Given the description of an element on the screen output the (x, y) to click on. 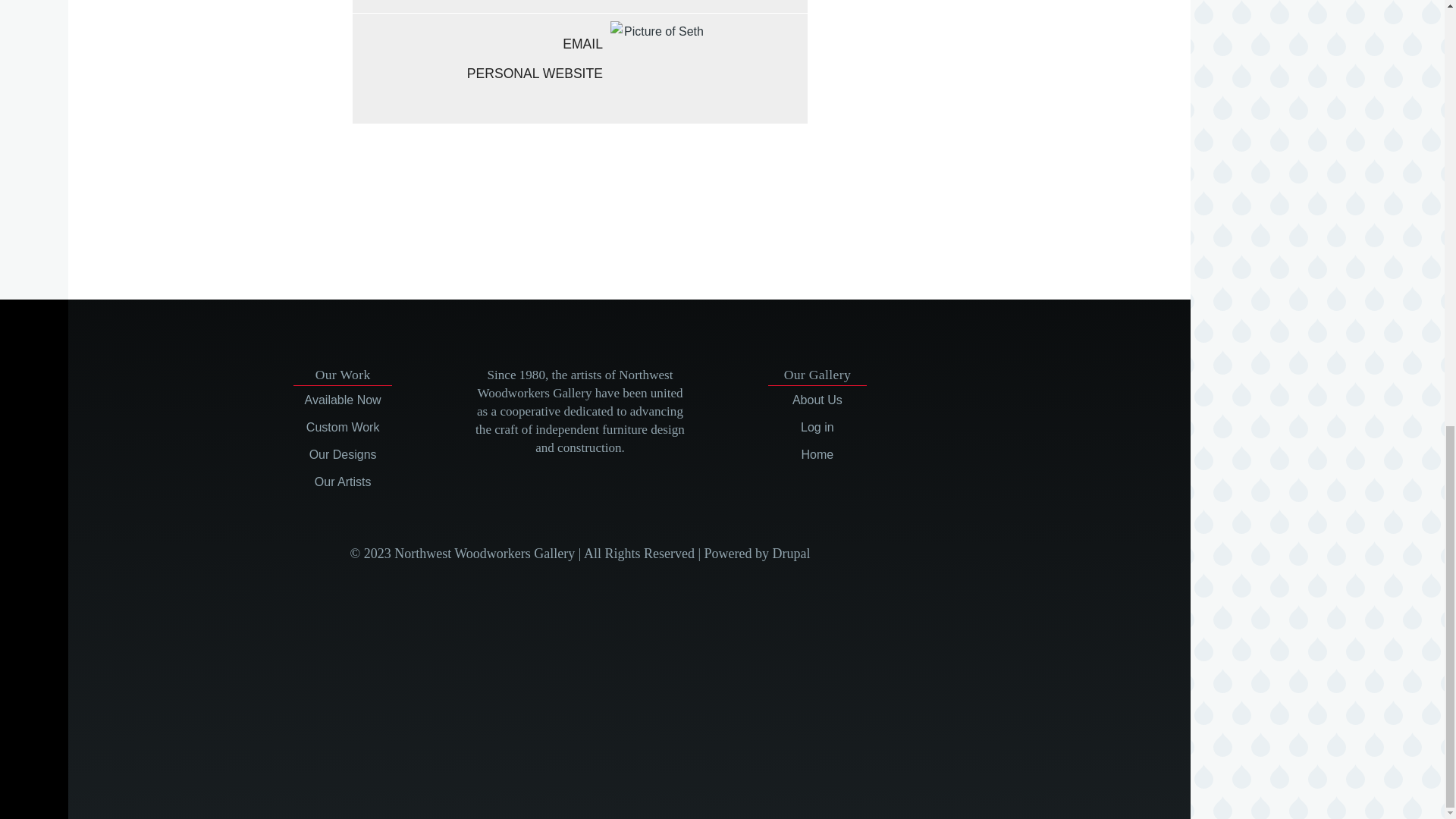
About Us (817, 399)
EMAIL (477, 44)
Seth Rolland (657, 68)
Some thoughts about ordering a custom design (342, 427)
Our Artists (342, 481)
mma-pop.ru (549, 215)
Home (816, 454)
A list of the types of furniture we make (342, 454)
Our member artists (342, 481)
Custom Work (342, 427)
Information about our gallery (817, 399)
Work that is built and ready to available for purchase (342, 399)
PERSONAL WEBSITE (477, 73)
Our home page (816, 454)
free printable coloring pages (550, 197)
